Given the description of an element on the screen output the (x, y) to click on. 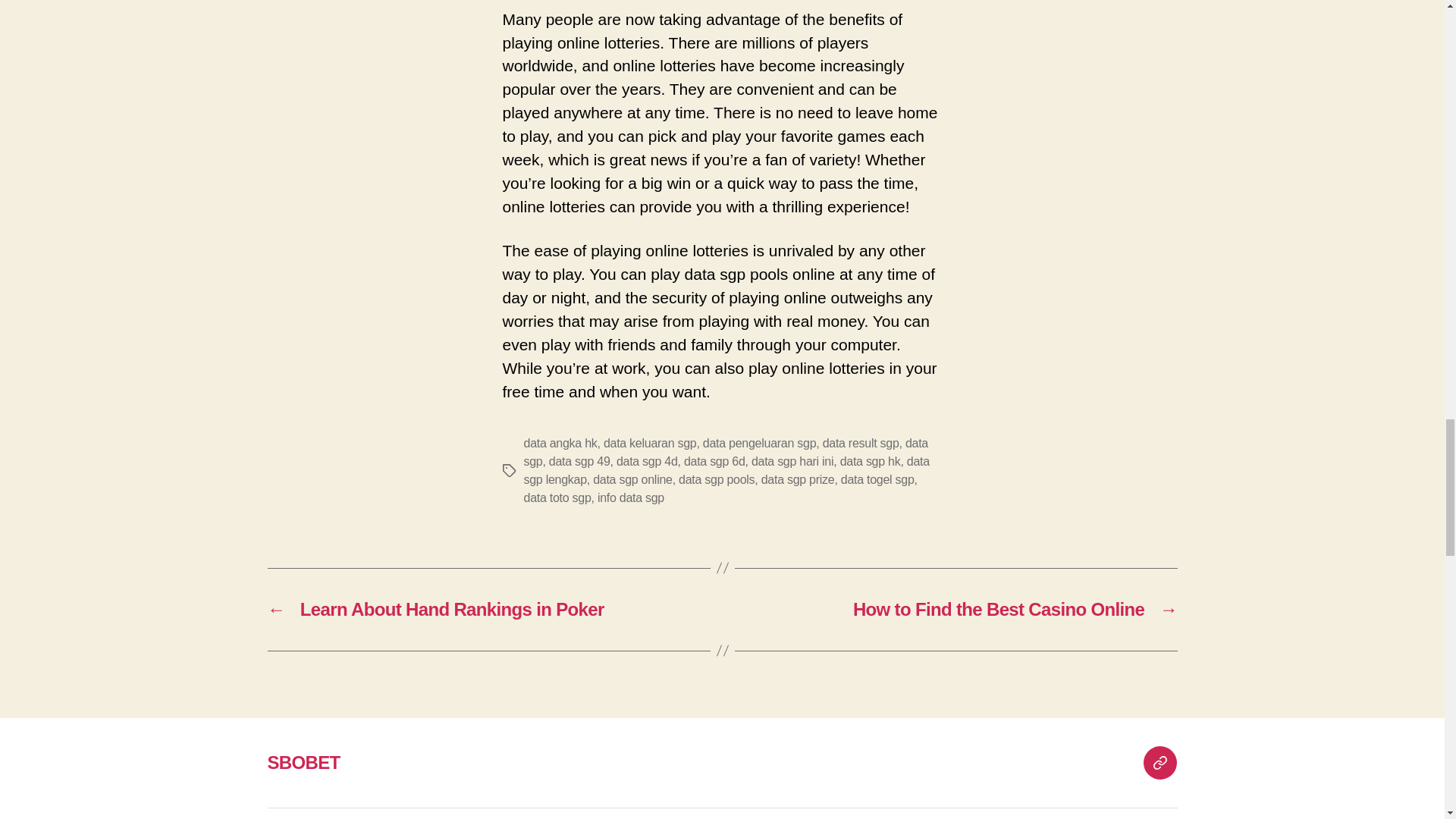
data toto sgp (556, 497)
data keluaran sgp (650, 442)
data result sgp (860, 442)
data angka hk (559, 442)
data sgp pools (716, 479)
data sgp 49 (579, 461)
data sgp (724, 451)
info data sgp (629, 497)
data sgp online (631, 479)
SBOBET (1159, 762)
data togel sgp (877, 479)
SBOBET (302, 762)
data sgp 6d (714, 461)
data sgp lengkap (725, 470)
data pengeluaran sgp (759, 442)
